Given the description of an element on the screen output the (x, y) to click on. 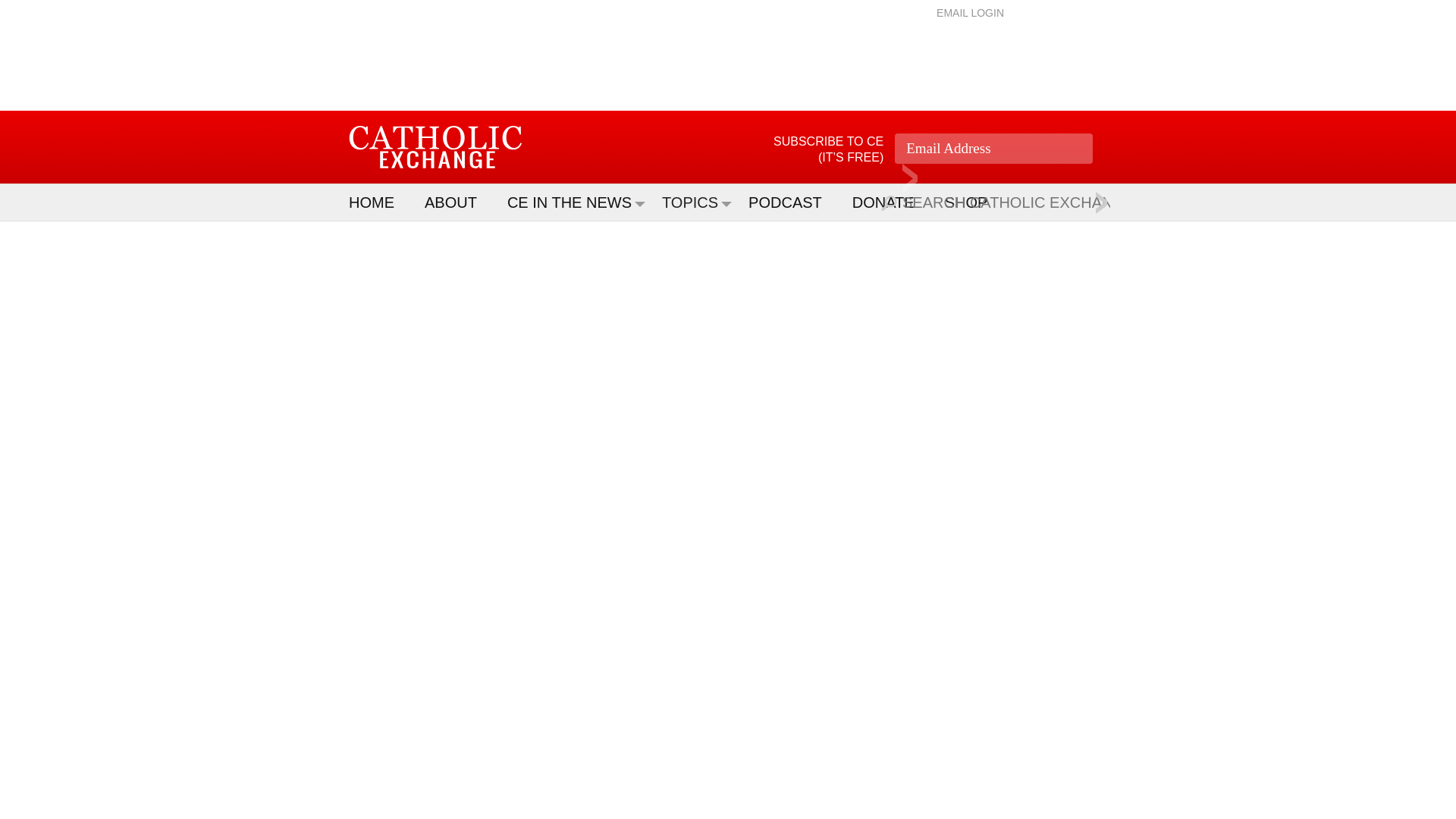
HOME (379, 201)
EMAIL LOGIN (970, 12)
PODCAST (792, 201)
SHOP (973, 201)
CE IN THE NEWS (576, 201)
ABOUT (458, 201)
Catholic Exchange (435, 146)
DONATE (890, 201)
